Given the description of an element on the screen output the (x, y) to click on. 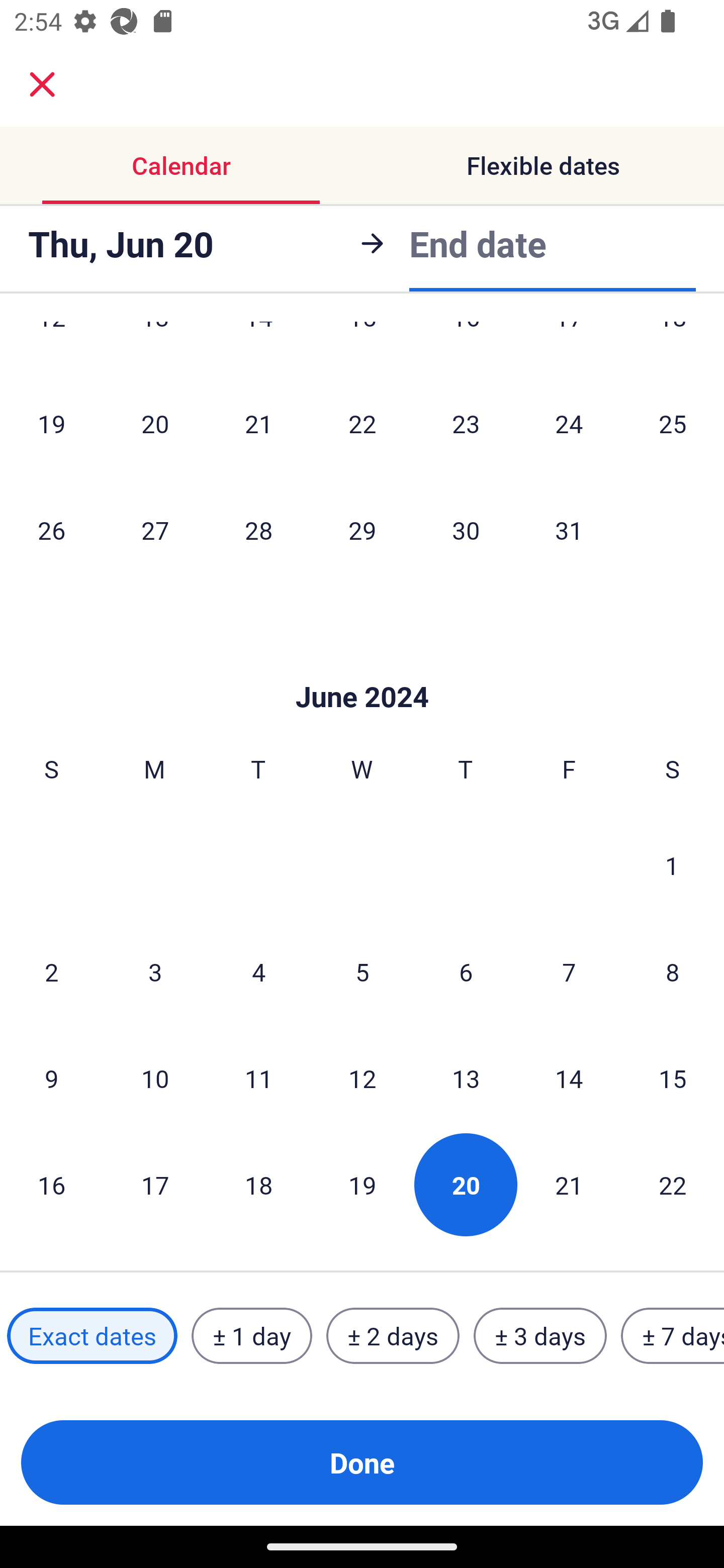
close. (42, 84)
Flexible dates (542, 164)
End date (477, 240)
19 Sunday, May 19, 2024 (51, 423)
20 Monday, May 20, 2024 (155, 423)
21 Tuesday, May 21, 2024 (258, 423)
22 Wednesday, May 22, 2024 (362, 423)
23 Thursday, May 23, 2024 (465, 423)
24 Friday, May 24, 2024 (569, 423)
25 Saturday, May 25, 2024 (672, 423)
26 Sunday, May 26, 2024 (51, 529)
27 Monday, May 27, 2024 (155, 529)
28 Tuesday, May 28, 2024 (258, 529)
29 Wednesday, May 29, 2024 (362, 529)
30 Thursday, May 30, 2024 (465, 529)
31 Friday, May 31, 2024 (569, 529)
Skip to Done (362, 666)
1 Saturday, June 1, 2024 (672, 865)
2 Sunday, June 2, 2024 (51, 971)
3 Monday, June 3, 2024 (155, 971)
4 Tuesday, June 4, 2024 (258, 971)
5 Wednesday, June 5, 2024 (362, 971)
6 Thursday, June 6, 2024 (465, 971)
7 Friday, June 7, 2024 (569, 971)
8 Saturday, June 8, 2024 (672, 971)
9 Sunday, June 9, 2024 (51, 1078)
10 Monday, June 10, 2024 (155, 1078)
11 Tuesday, June 11, 2024 (258, 1078)
12 Wednesday, June 12, 2024 (362, 1078)
13 Thursday, June 13, 2024 (465, 1078)
14 Friday, June 14, 2024 (569, 1078)
15 Saturday, June 15, 2024 (672, 1078)
16 Sunday, June 16, 2024 (51, 1184)
17 Monday, June 17, 2024 (155, 1184)
18 Tuesday, June 18, 2024 (258, 1184)
19 Wednesday, June 19, 2024 (362, 1184)
21 Friday, June 21, 2024 (569, 1184)
22 Saturday, June 22, 2024 (672, 1184)
Exact dates (92, 1335)
± 1 day (251, 1335)
± 2 days (392, 1335)
± 3 days (539, 1335)
± 7 days (672, 1335)
Done (361, 1462)
